Given the description of an element on the screen output the (x, y) to click on. 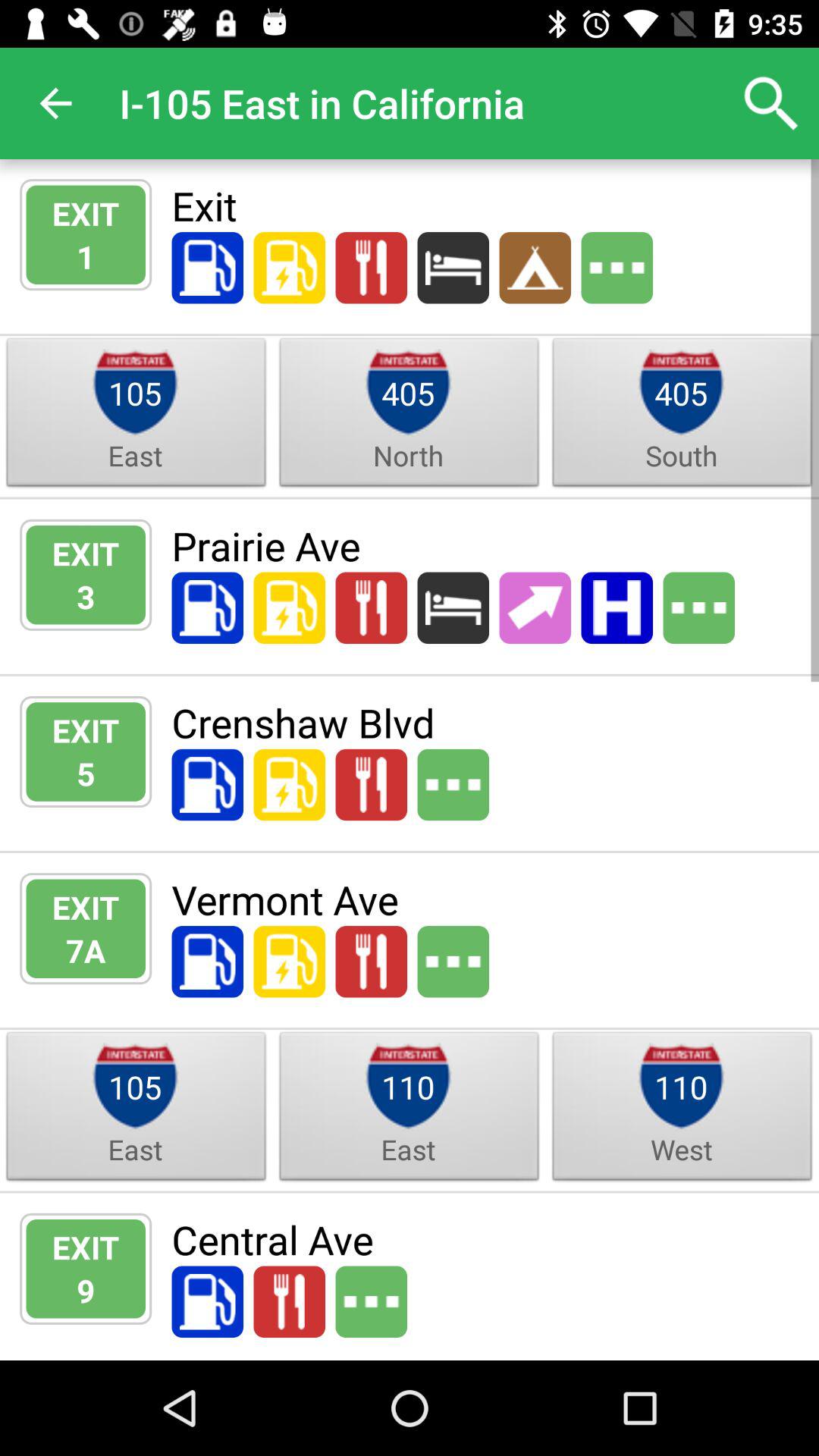
select the item next to prairie ave (85, 596)
